Given the description of an element on the screen output the (x, y) to click on. 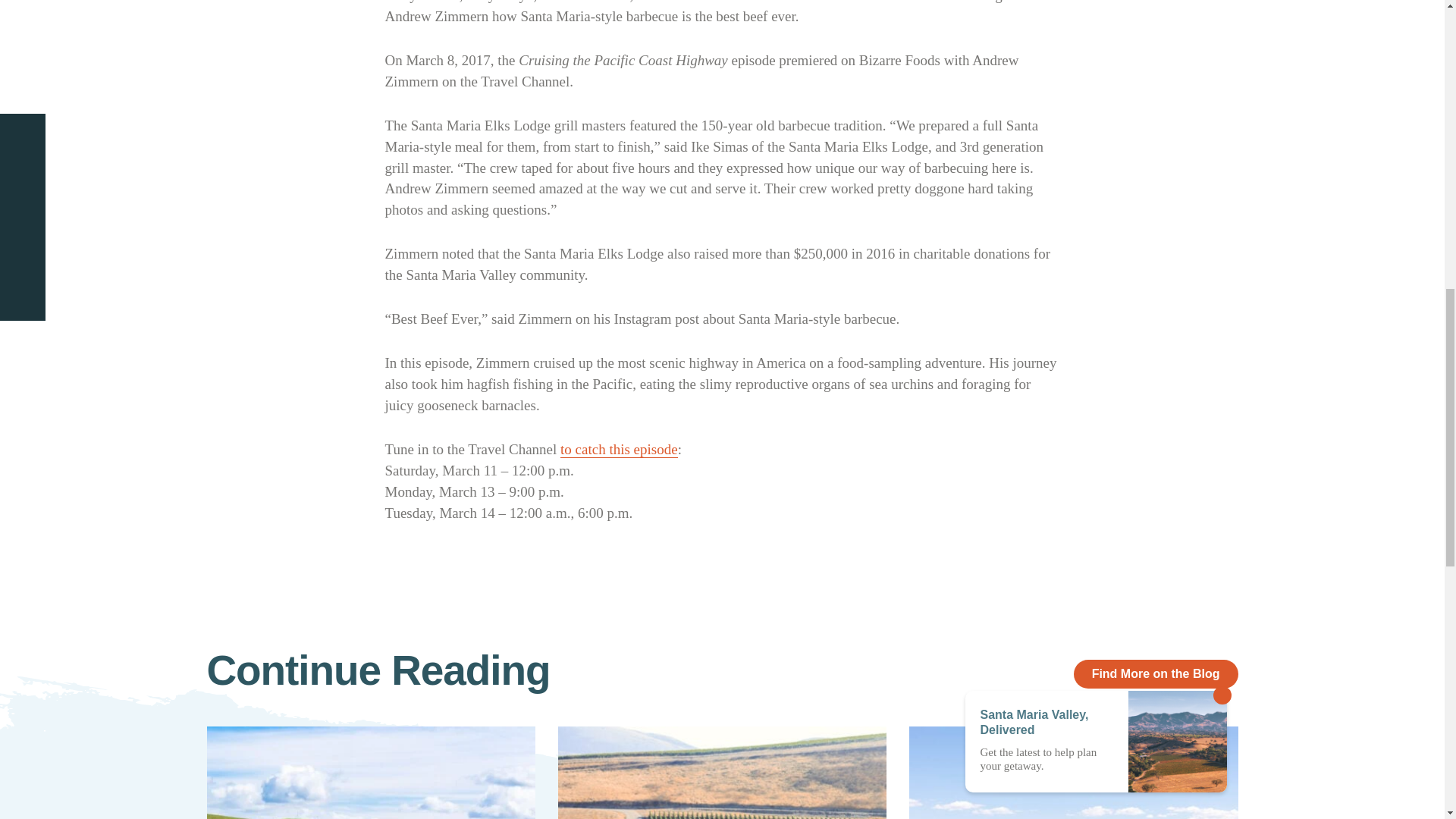
Share via Email (20, 211)
Share on Twitter (20, 127)
